Given the description of an element on the screen output the (x, y) to click on. 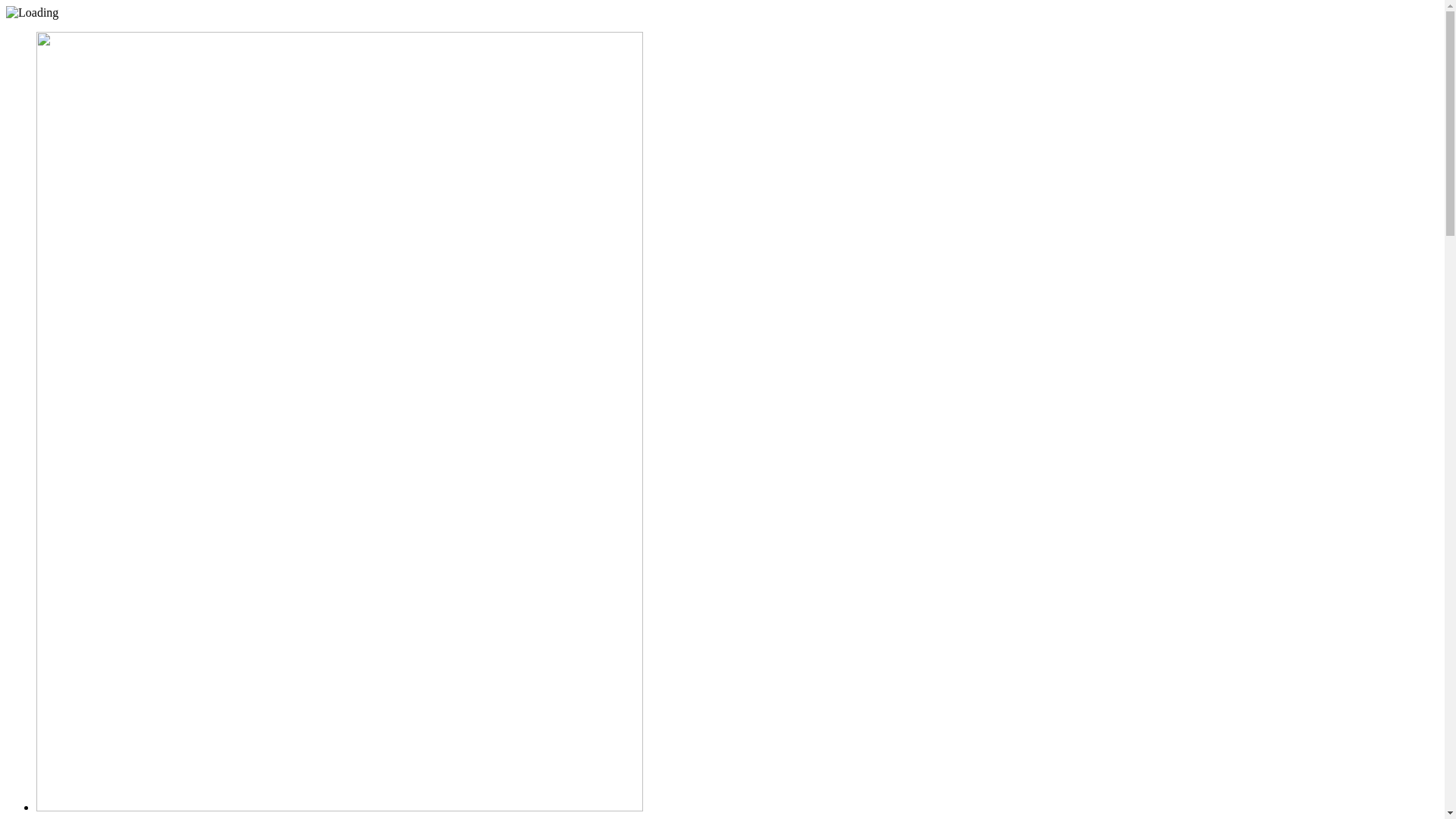
iphone_screen_home Element type: hover (339, 421)
Loading Element type: hover (32, 12)
